Given the description of an element on the screen output the (x, y) to click on. 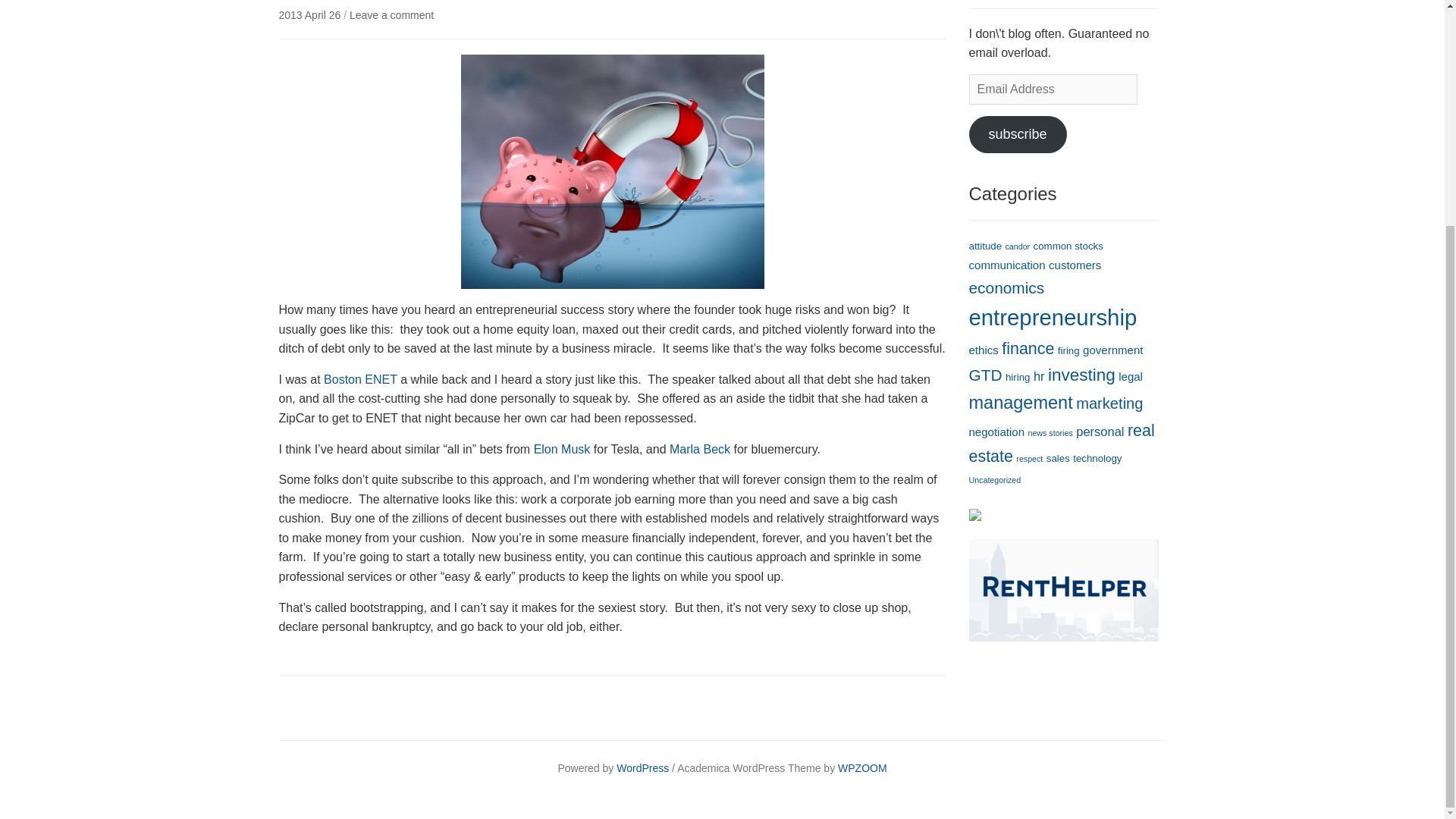
marketing (1108, 402)
communication (1007, 264)
entrepreneurship (1053, 317)
economics (1007, 287)
news stories (1050, 432)
customers (1074, 264)
Marla Beck (699, 449)
ethics (983, 349)
GTD (986, 375)
firing (1069, 350)
Elon Musk (562, 449)
negotiation (997, 431)
Boston ENET (360, 379)
legal (1130, 376)
finance (1027, 348)
